Given the description of an element on the screen output the (x, y) to click on. 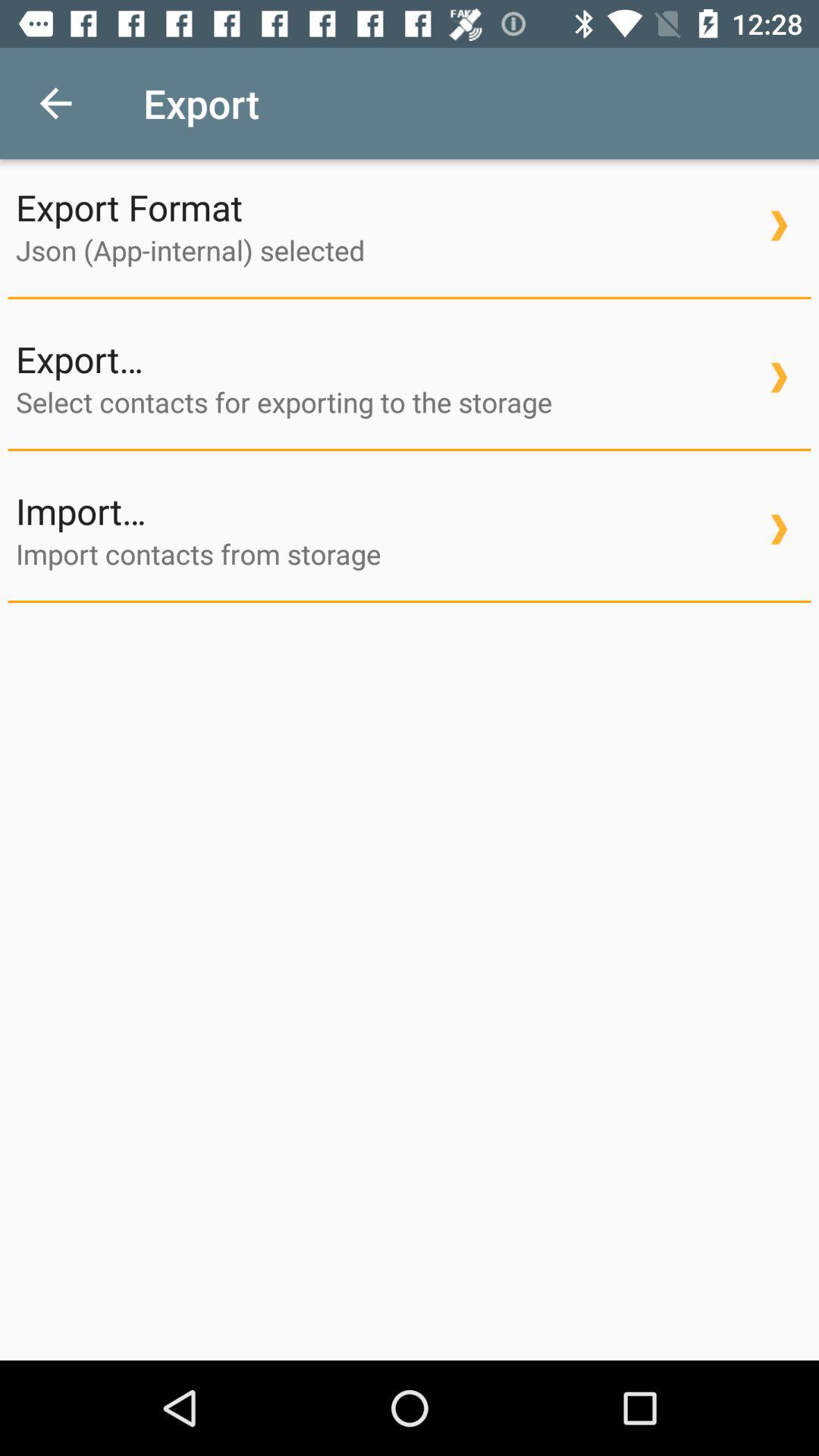
choose the item above the export format icon (55, 103)
